Given the description of an element on the screen output the (x, y) to click on. 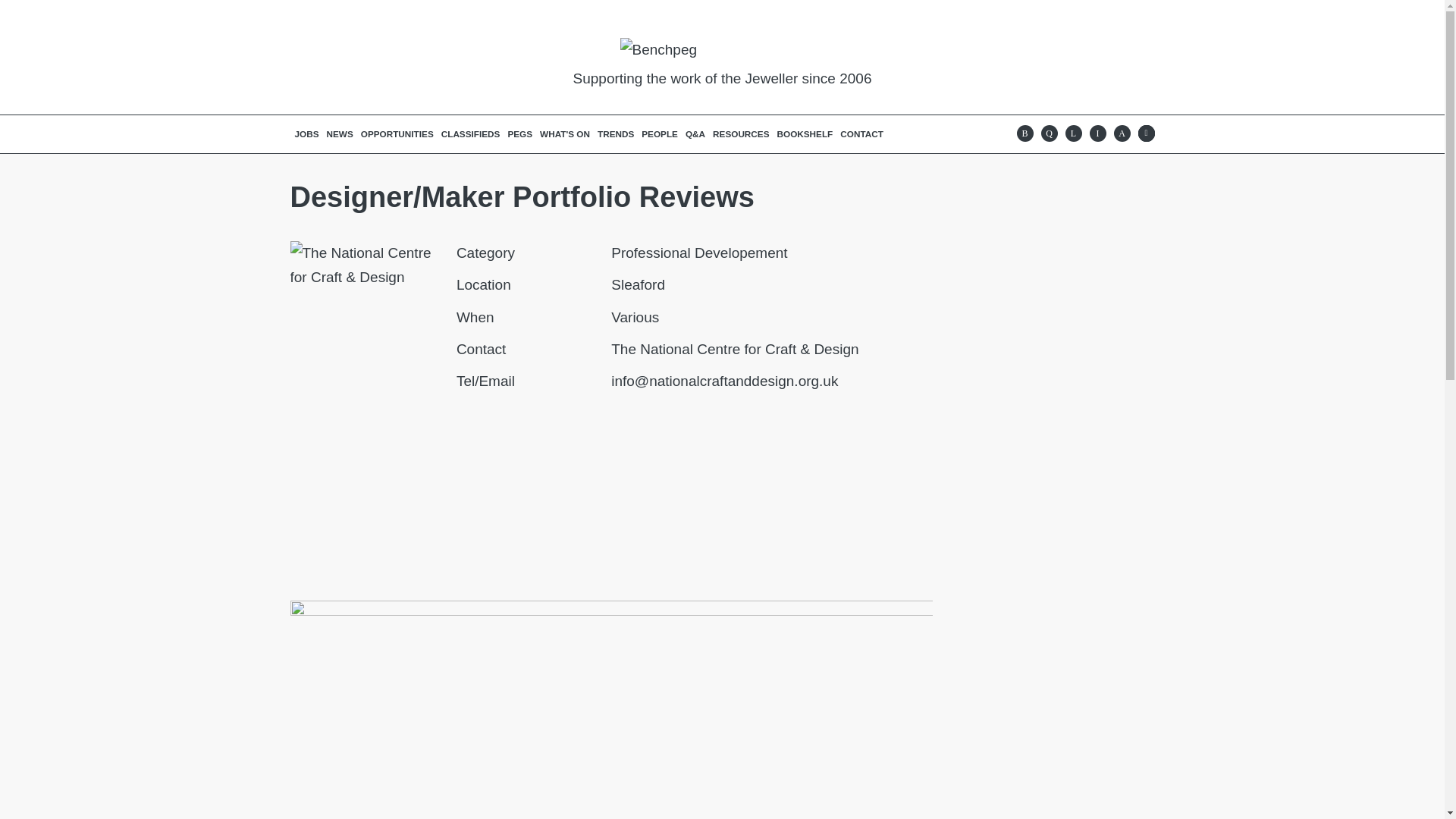
OPPORTUNITIES (397, 134)
CONTACT (860, 134)
Q (1049, 133)
L (1072, 133)
B (1024, 133)
JOBS (307, 134)
NEWS (339, 134)
A (1121, 133)
I (1097, 133)
RESOURCES (741, 134)
PEOPLE (659, 134)
TRENDS (615, 134)
BOOKSHELF (805, 134)
Search (1145, 133)
